Given the description of an element on the screen output the (x, y) to click on. 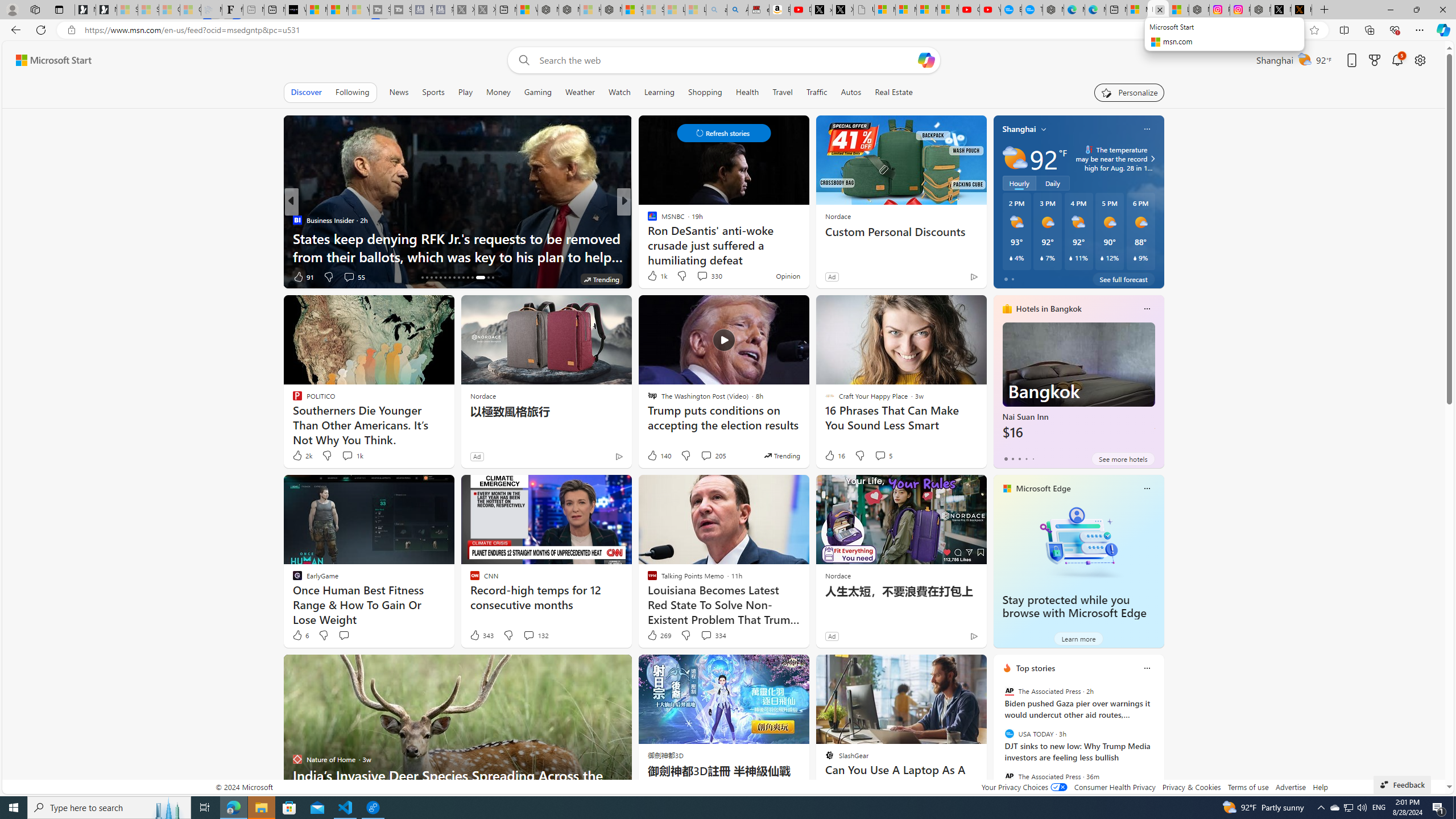
AutomationID: tab-28 (480, 277)
Money (497, 92)
tab-2 (1019, 458)
AutomationID: tab-16 (422, 277)
next (1158, 741)
Play (465, 92)
Help (1320, 786)
AutomationID: tab-26 (467, 277)
View comments 132 Comment (528, 635)
